Given the description of an element on the screen output the (x, y) to click on. 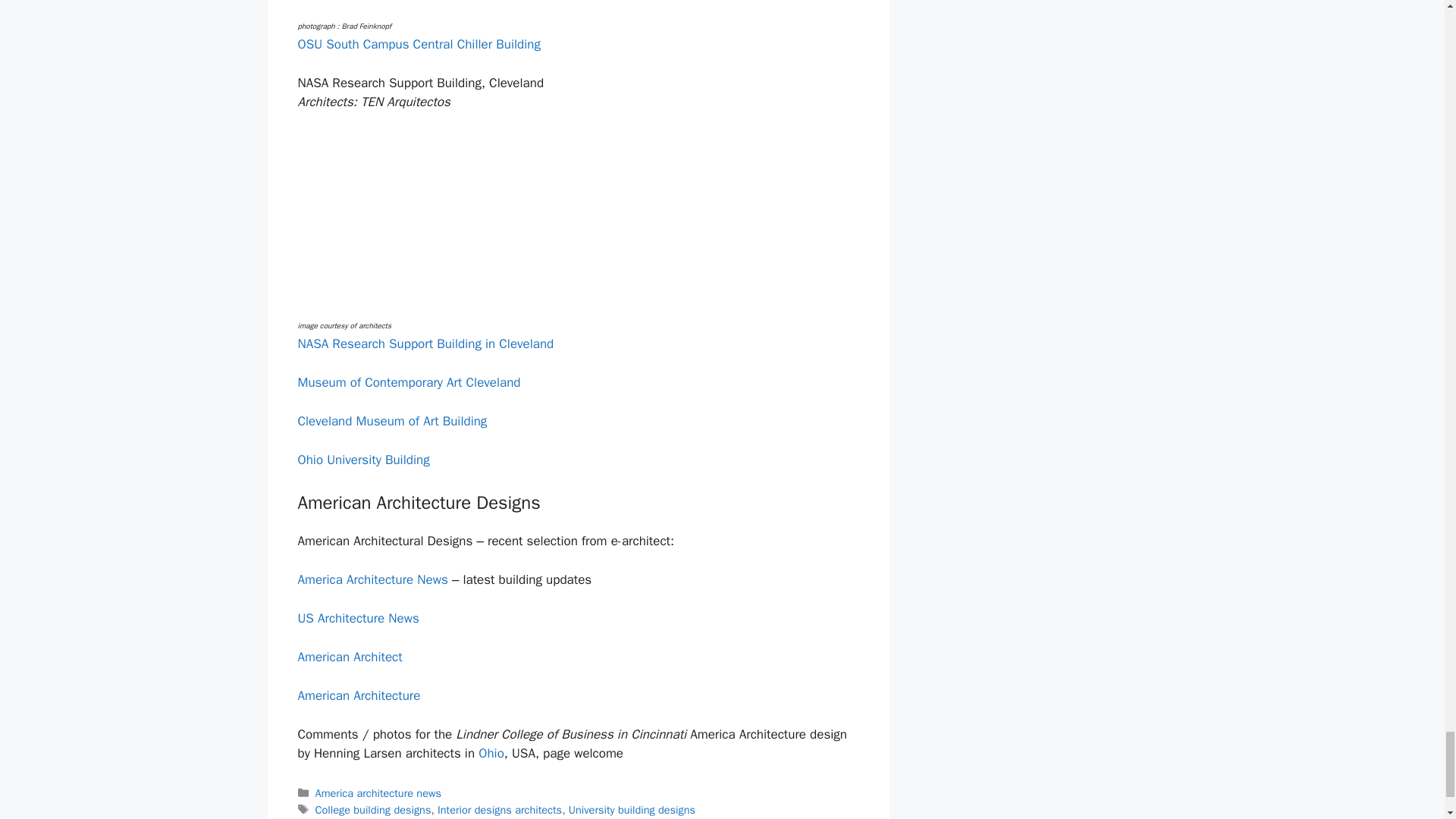
OSU South Campus Central Chiller Building (498, 4)
